Given the description of an element on the screen output the (x, y) to click on. 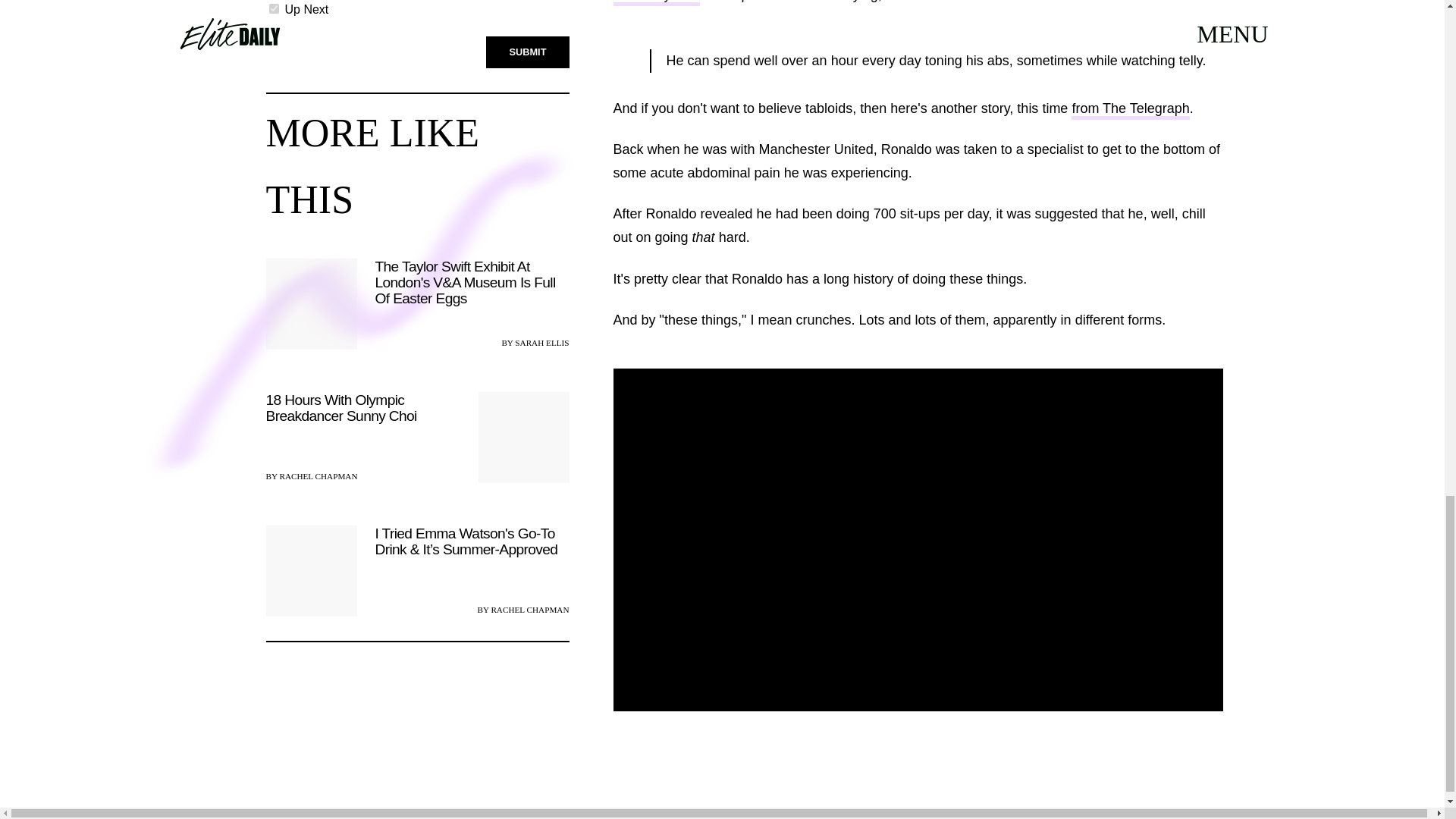
from The Telegraph (1130, 109)
SUBMIT (527, 51)
The Daily Star (655, 2)
